Given the description of an element on the screen output the (x, y) to click on. 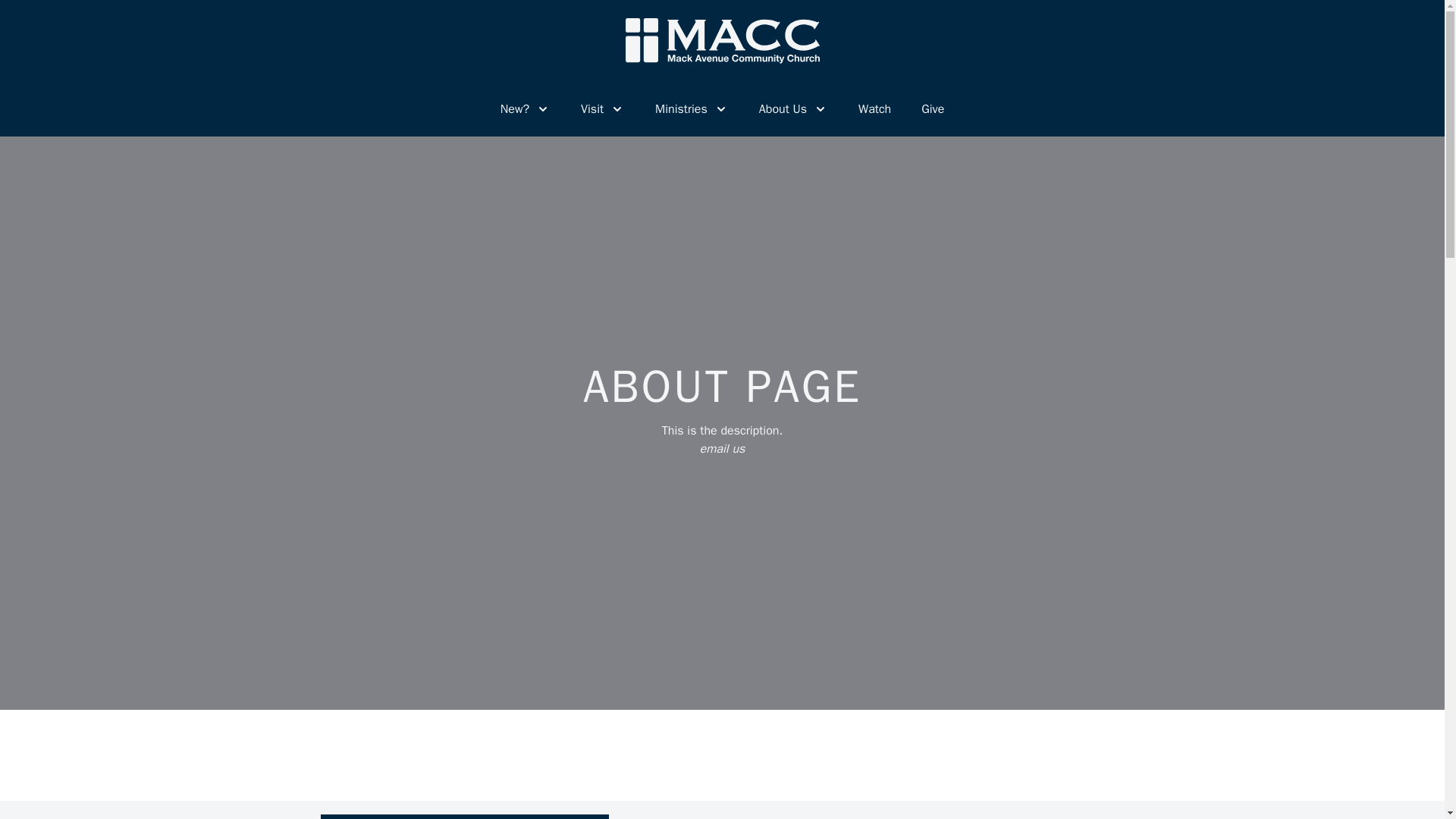
Give (932, 108)
About Us (793, 108)
New? (525, 108)
Ministries (692, 108)
Visit (602, 108)
Watch (875, 108)
